Given the description of an element on the screen output the (x, y) to click on. 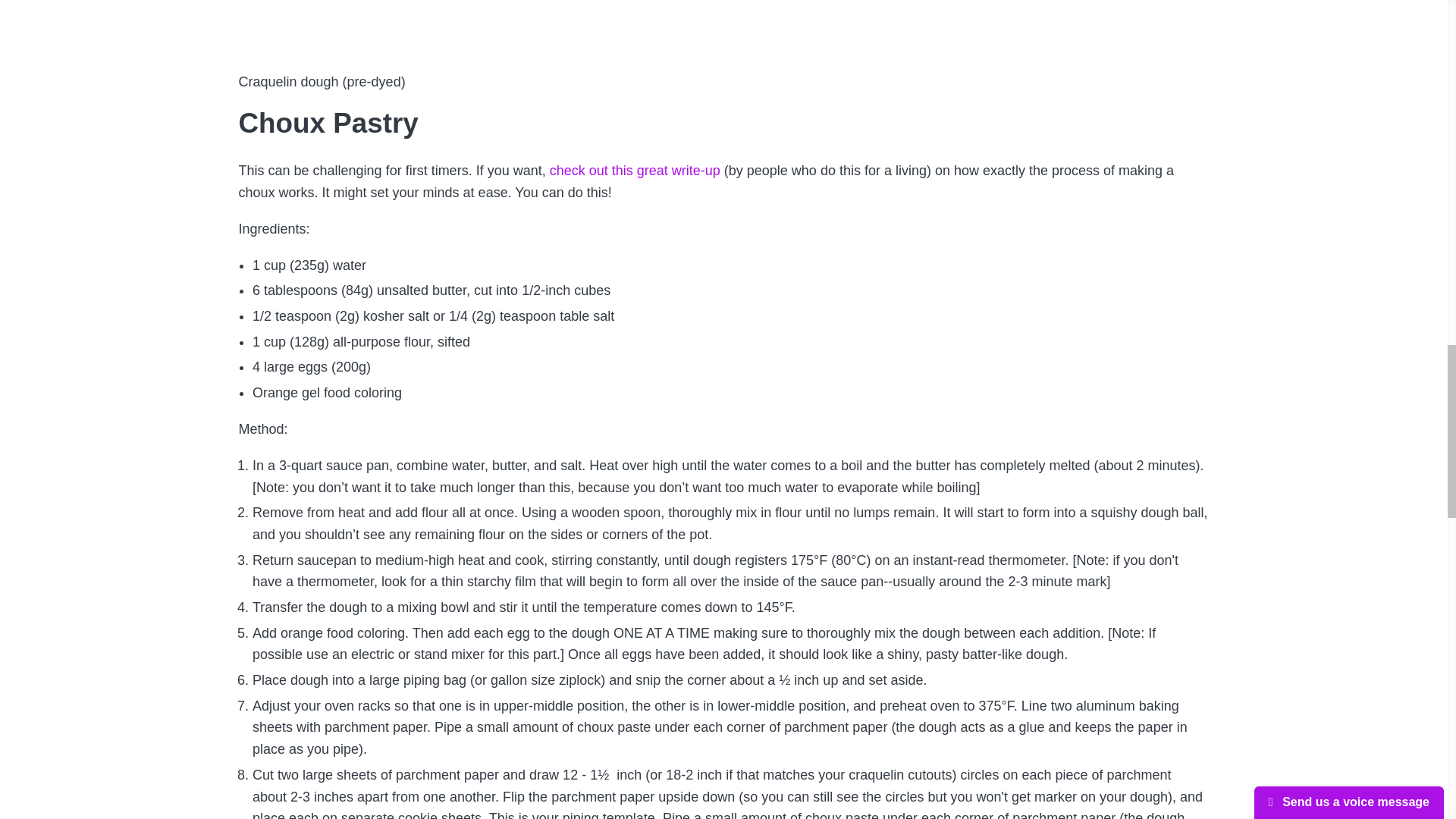
check out this great write-up (636, 170)
